Given the description of an element on the screen output the (x, y) to click on. 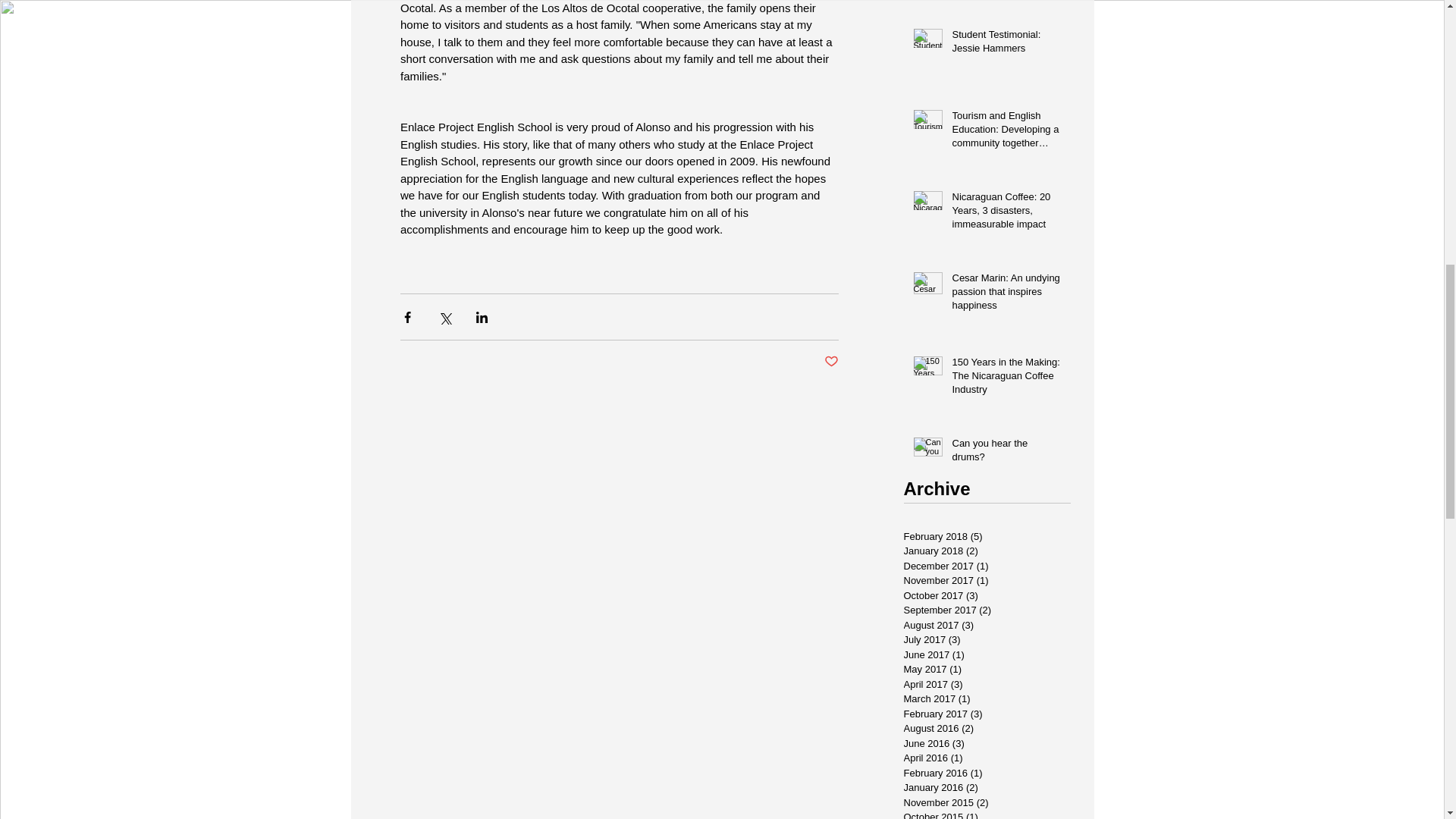
Cesar Marin: An undying passion that inspires happiness (1006, 295)
150 Years in the Making: The Nicaraguan Coffee Industry (1006, 379)
Student Testimonial: Jessie Hammers (1006, 44)
Post not marked as liked (831, 361)
Can you hear the drums? (1006, 453)
